Given the description of an element on the screen output the (x, y) to click on. 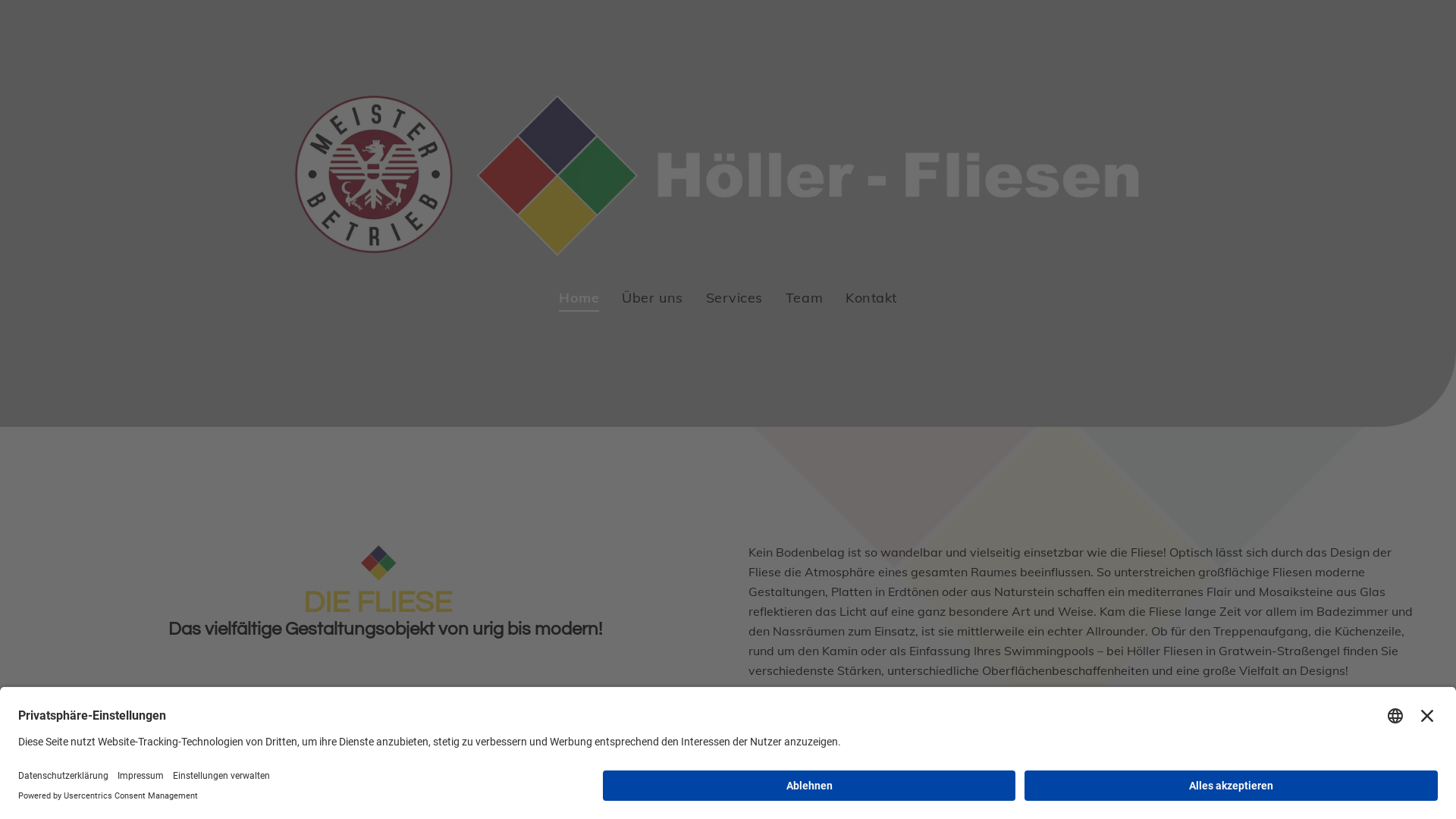
Services Element type: text (734, 296)
Team Element type: text (804, 296)
Kontakt Element type: text (871, 296)
Home Element type: text (578, 296)
